Given the description of an element on the screen output the (x, y) to click on. 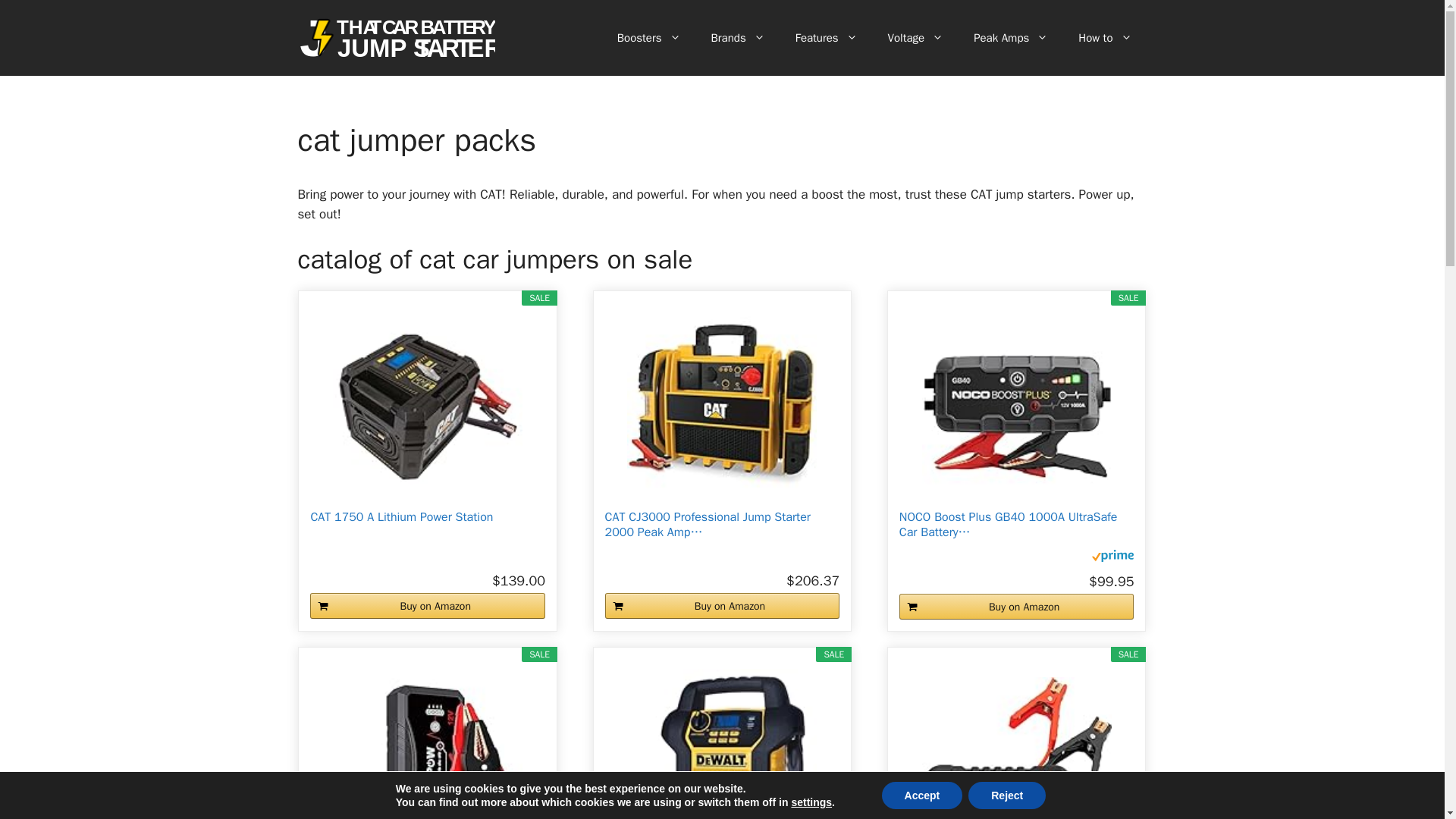
Buy on Amazon (722, 605)
Amazon Prime (1113, 557)
CAT 1750 A Lithium Power Station (427, 407)
Brands (737, 37)
CAT 1750 A Lithium Power Station (427, 524)
Buy on Amazon (1016, 606)
Boosters (648, 37)
Buy on Amazon (427, 605)
